Given the description of an element on the screen output the (x, y) to click on. 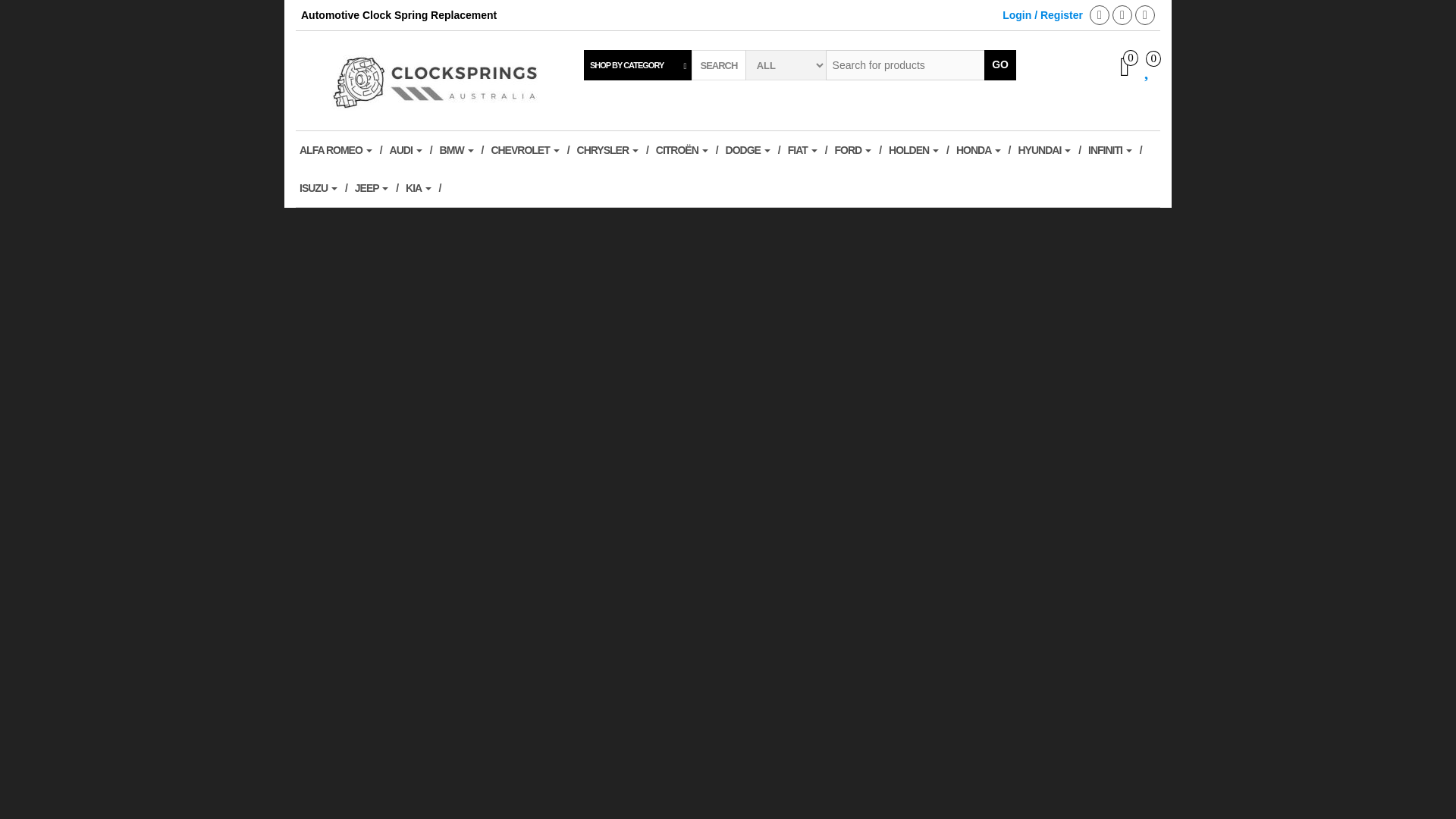
Clocksprings Australia (439, 80)
SHOP BY CATEGORY (638, 64)
Alfa Romeo (340, 149)
Audi (410, 149)
